Given the description of an element on the screen output the (x, y) to click on. 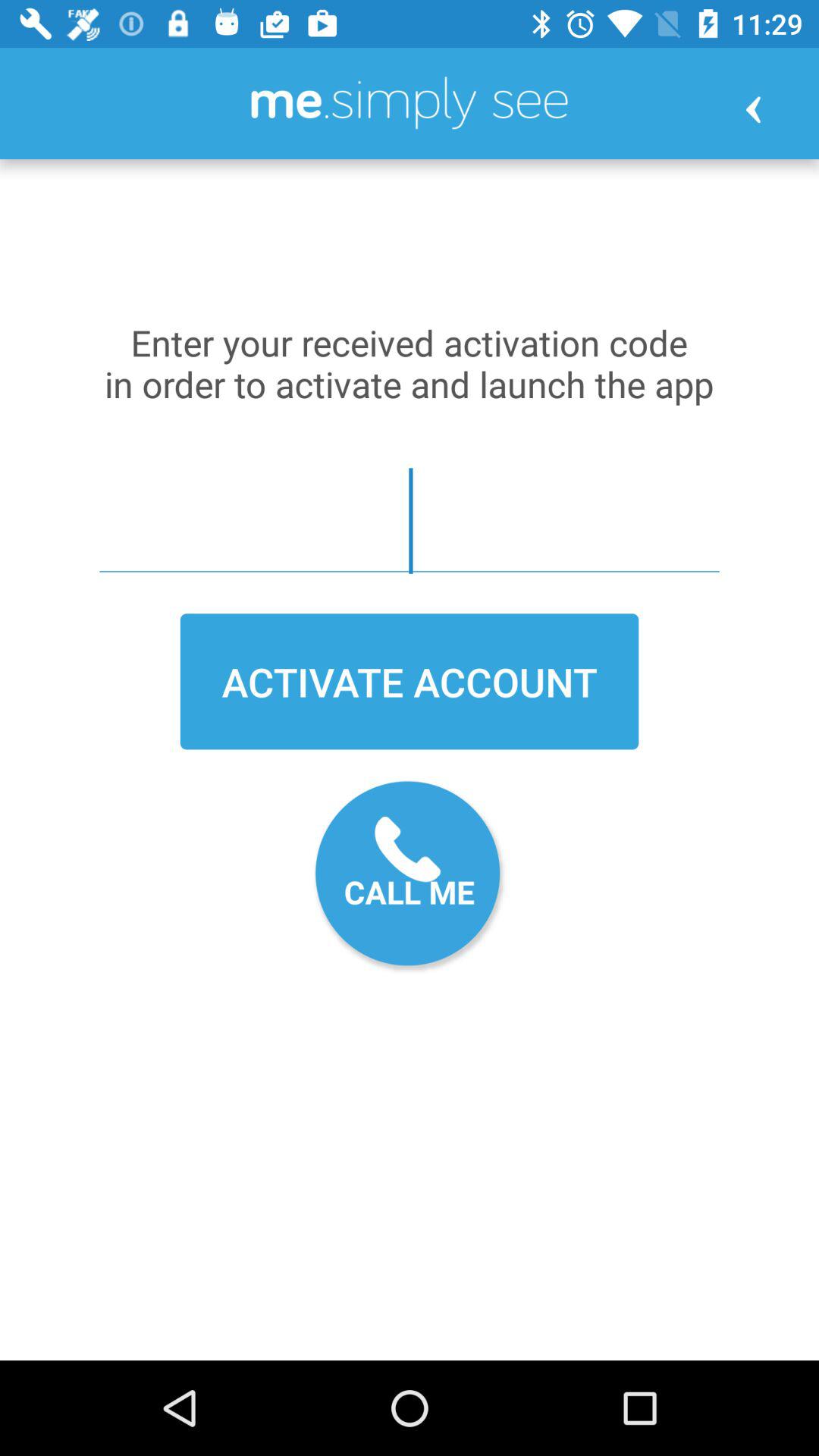
tap item at the top right corner (753, 109)
